Given the description of an element on the screen output the (x, y) to click on. 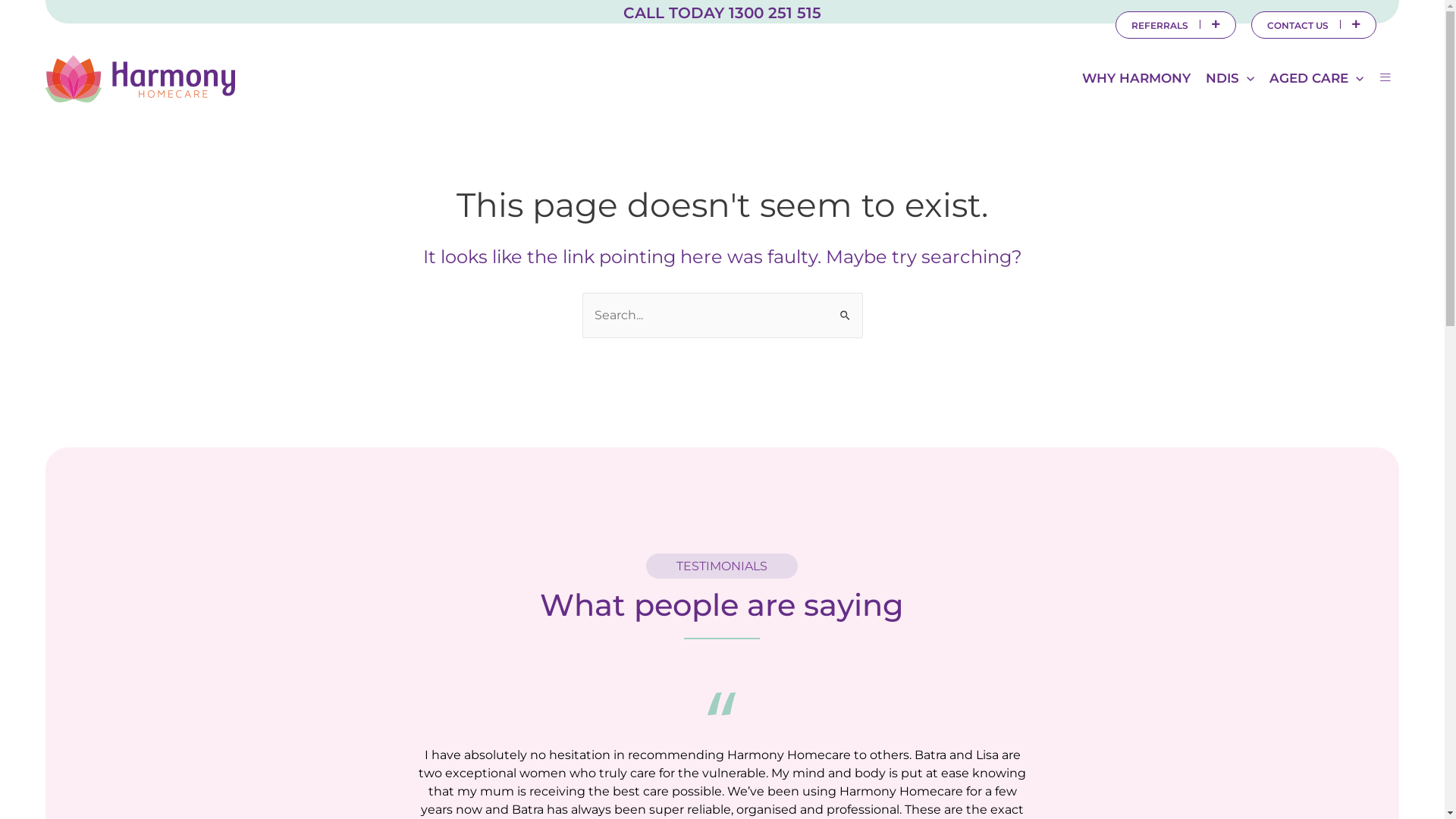
Search Element type: text (845, 307)
NDIS Element type: text (1229, 77)
CONTACT US Element type: text (1313, 24)
WHY HARMONY Element type: text (1136, 77)
REFERRALS Element type: text (1175, 24)
CALL TODAY 1300 251 515 Element type: text (722, 12)
AGED CARE Element type: text (1316, 77)
